Given the description of an element on the screen output the (x, y) to click on. 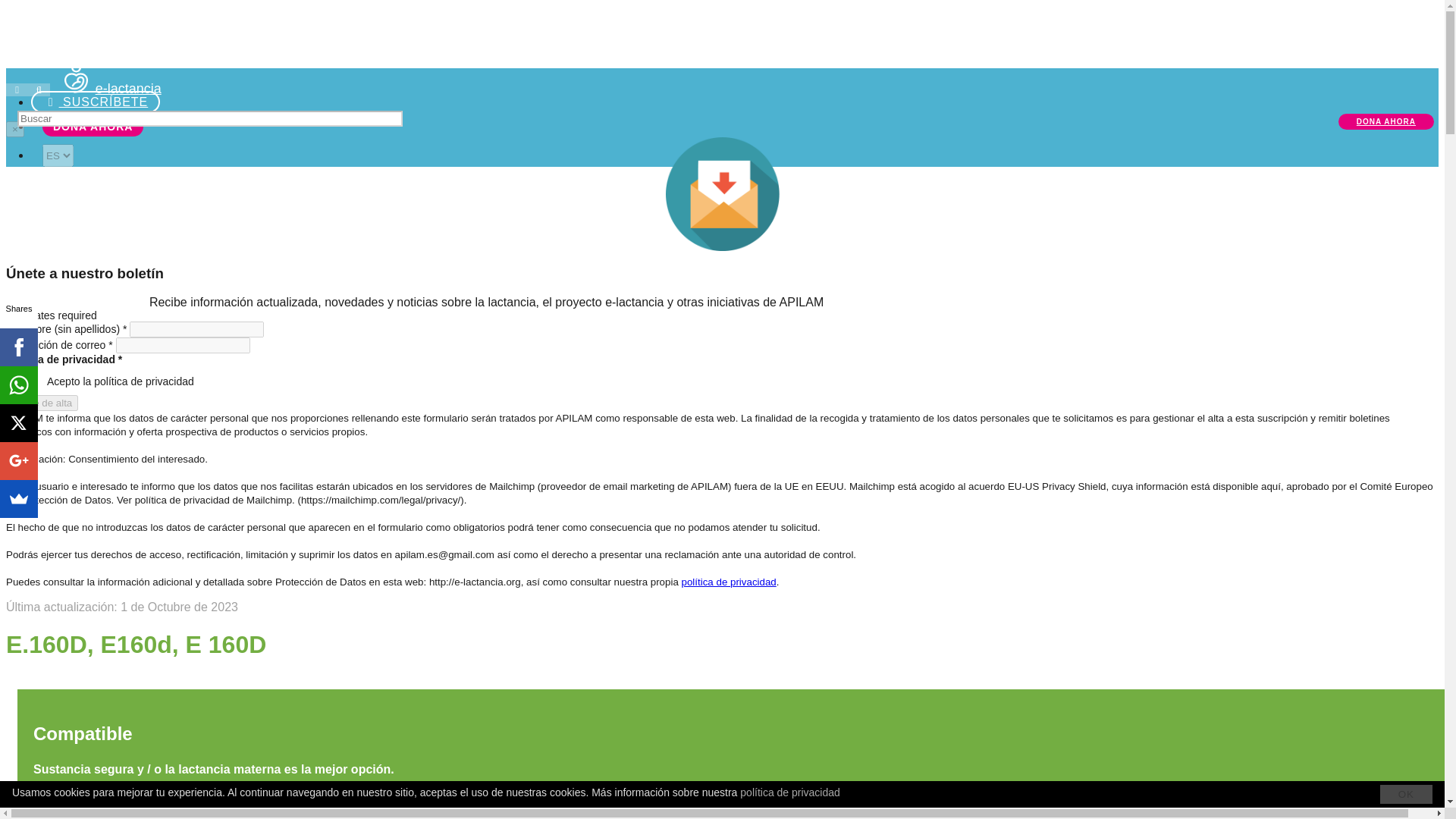
Dame de alta (41, 402)
Facebook (18, 346)
X (18, 422)
e-lactancia (108, 88)
Dame de alta (41, 402)
DONA AHORA (1386, 121)
SumoMe (18, 497)
DONA AHORA (92, 126)
WhatsApp (18, 384)
Toggle navigation (16, 89)
